Given the description of an element on the screen output the (x, y) to click on. 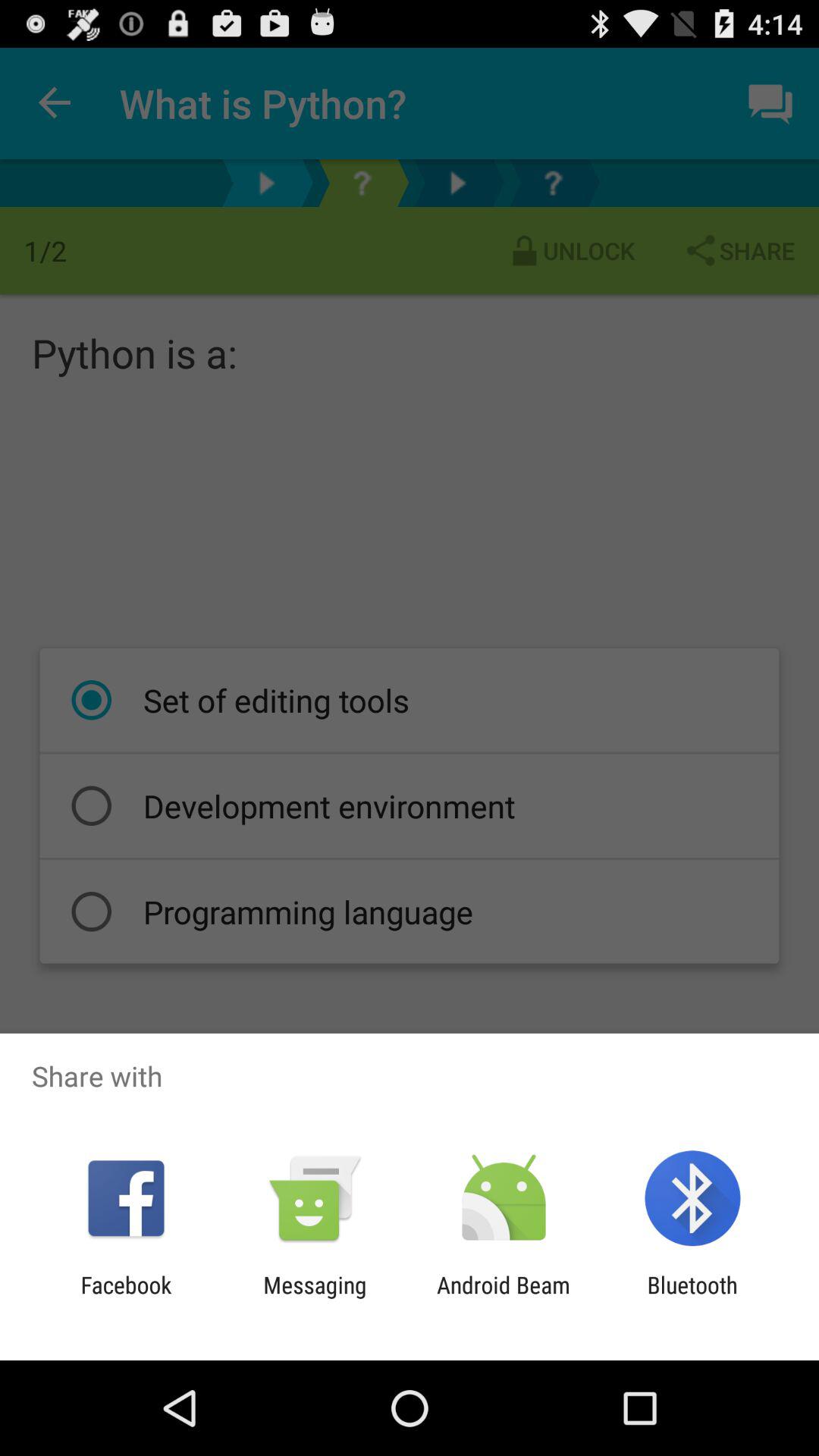
turn on the item next to the messaging (503, 1298)
